Given the description of an element on the screen output the (x, y) to click on. 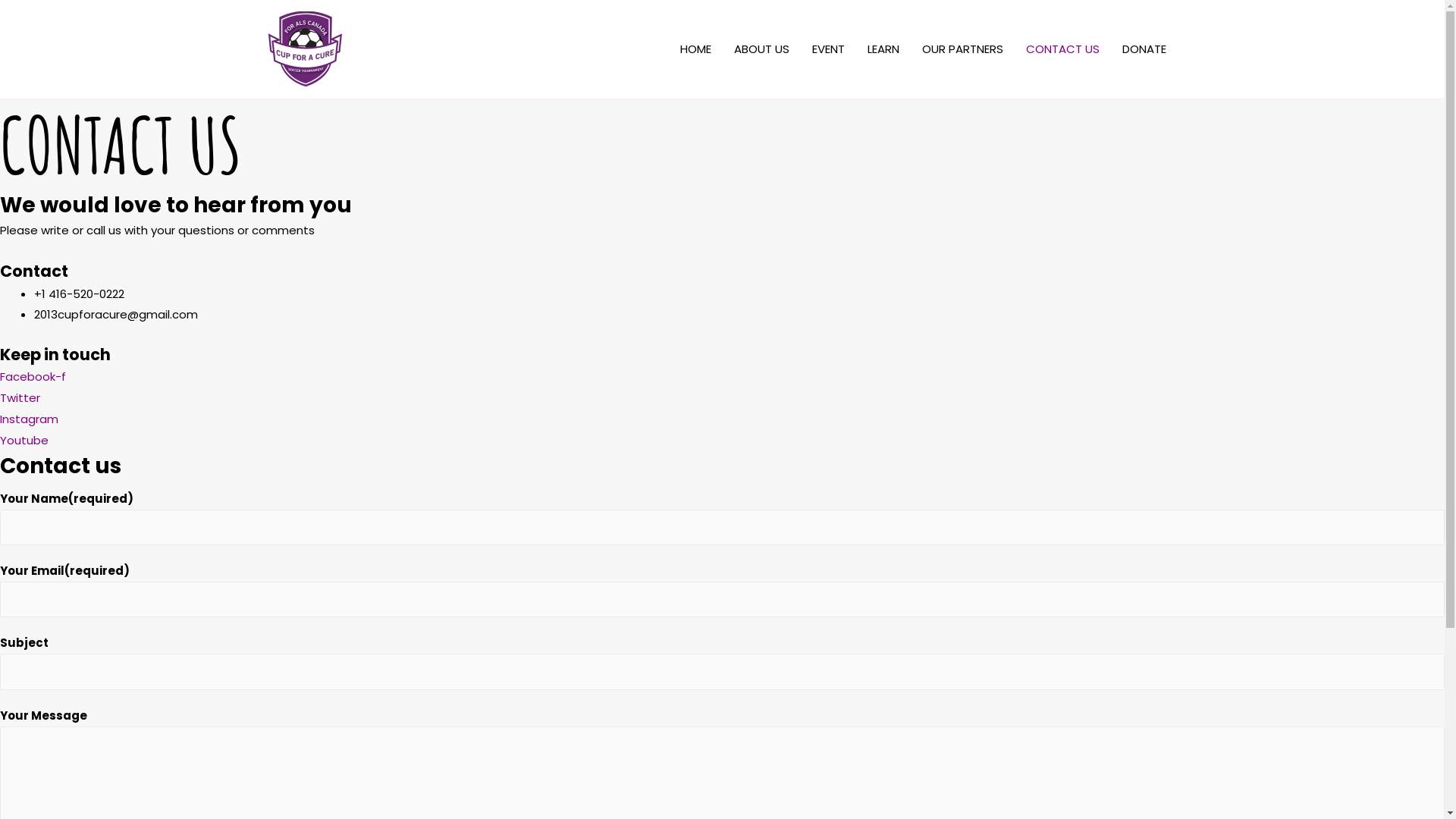
ABOUT US Element type: text (760, 49)
HOME Element type: text (695, 49)
Twitter Element type: text (20, 397)
Youtube Element type: text (24, 440)
EVENT Element type: text (828, 49)
LEARN Element type: text (882, 49)
CONTACT US Element type: text (1062, 49)
DONATE Element type: text (1143, 49)
Instagram Element type: text (29, 418)
OUR PARTNERS Element type: text (961, 49)
Facebook-f Element type: text (32, 376)
